Given the description of an element on the screen output the (x, y) to click on. 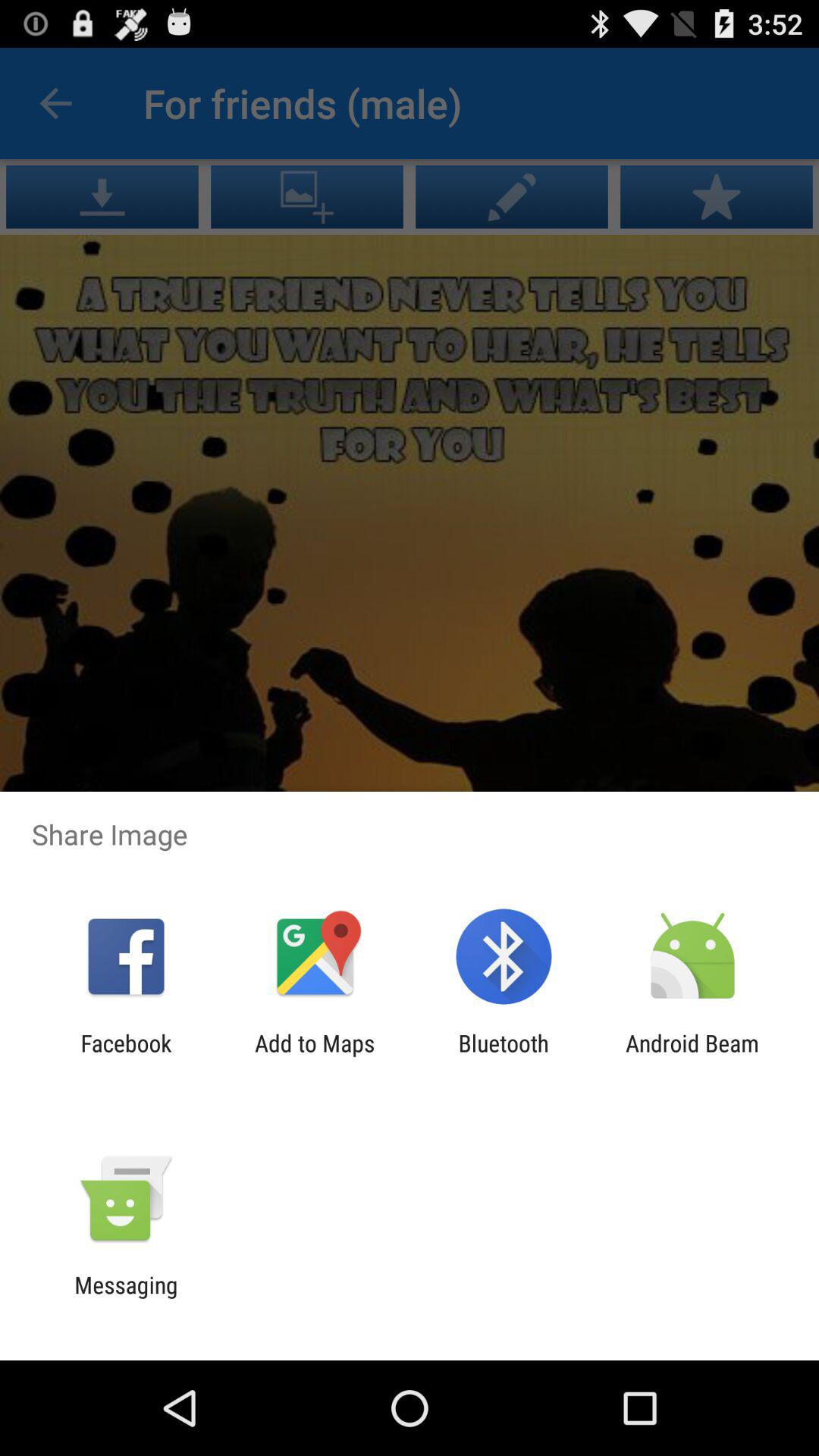
tap the app to the left of bluetooth (314, 1056)
